Given the description of an element on the screen output the (x, y) to click on. 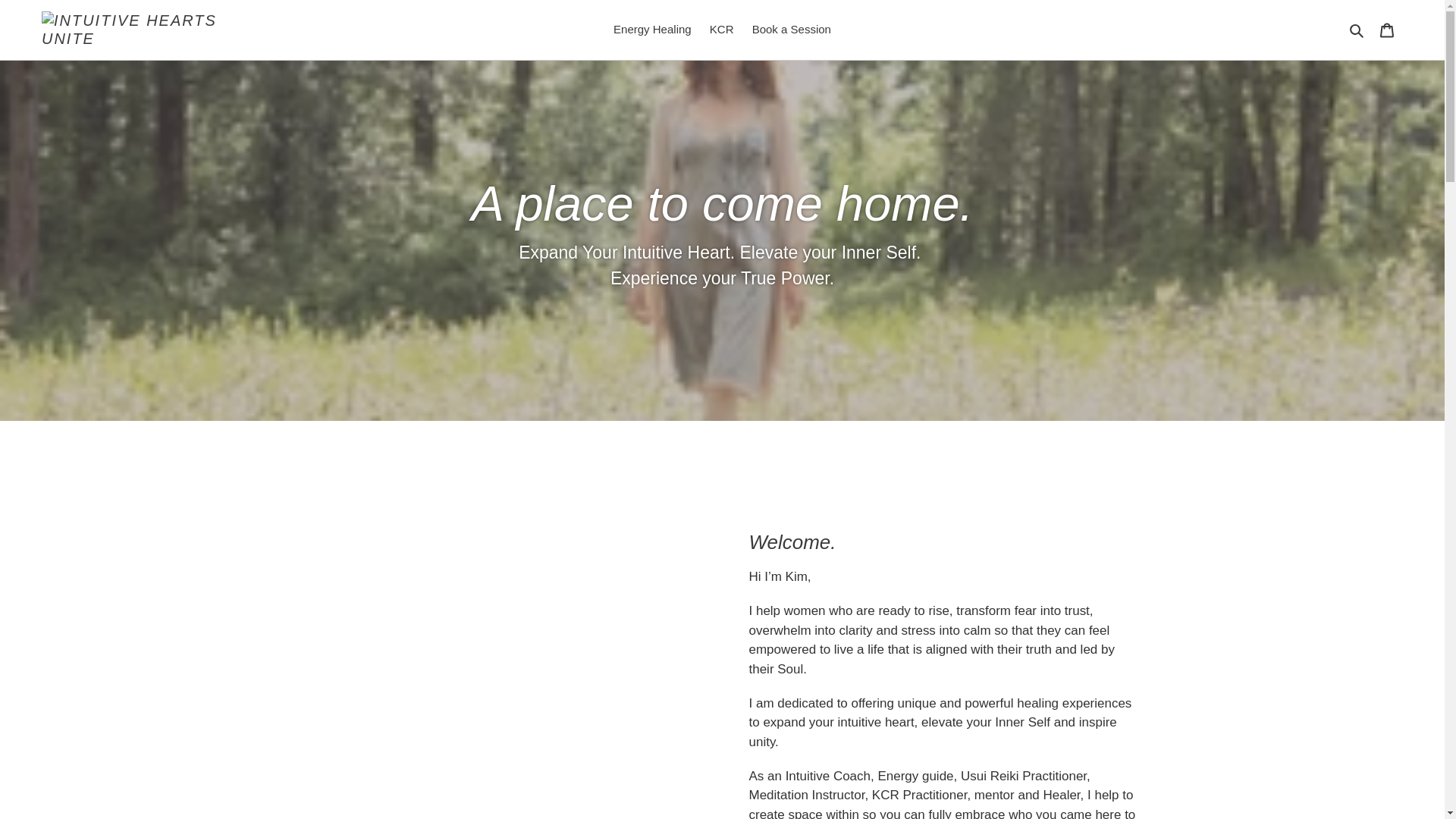
Search (1357, 29)
Cart (1387, 29)
Energy Healing (651, 29)
KCR (721, 29)
Book a Session (791, 29)
